Given the description of an element on the screen output the (x, y) to click on. 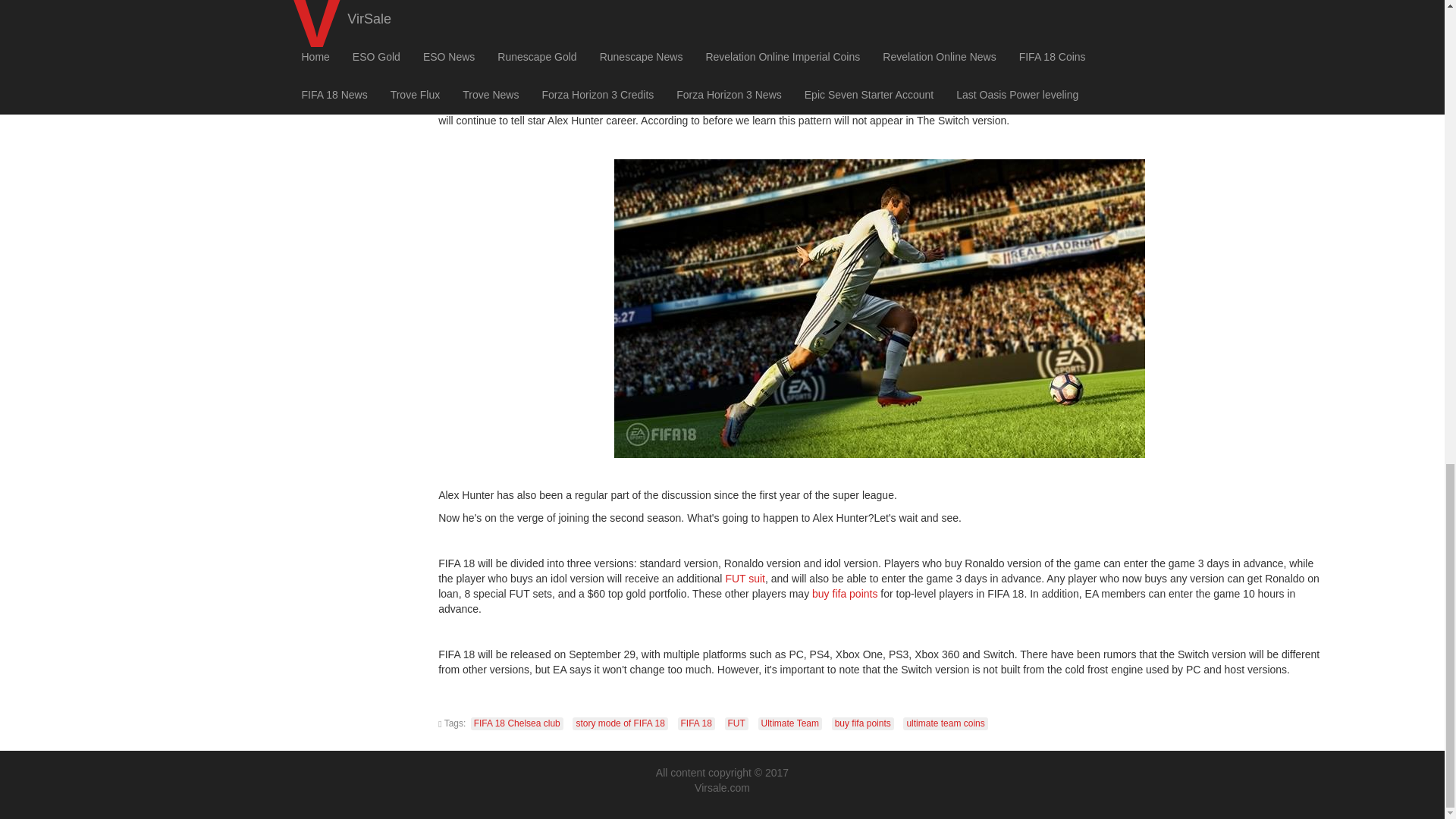
buy fifa points (844, 593)
FUT (736, 723)
FIFA 18 (696, 723)
FIFA 18 Chelsea club (516, 723)
buy fifa points (862, 723)
story mode of FIFA 18 (619, 723)
Ultimate Team (790, 723)
FUT suit (745, 578)
